Given the description of an element on the screen output the (x, y) to click on. 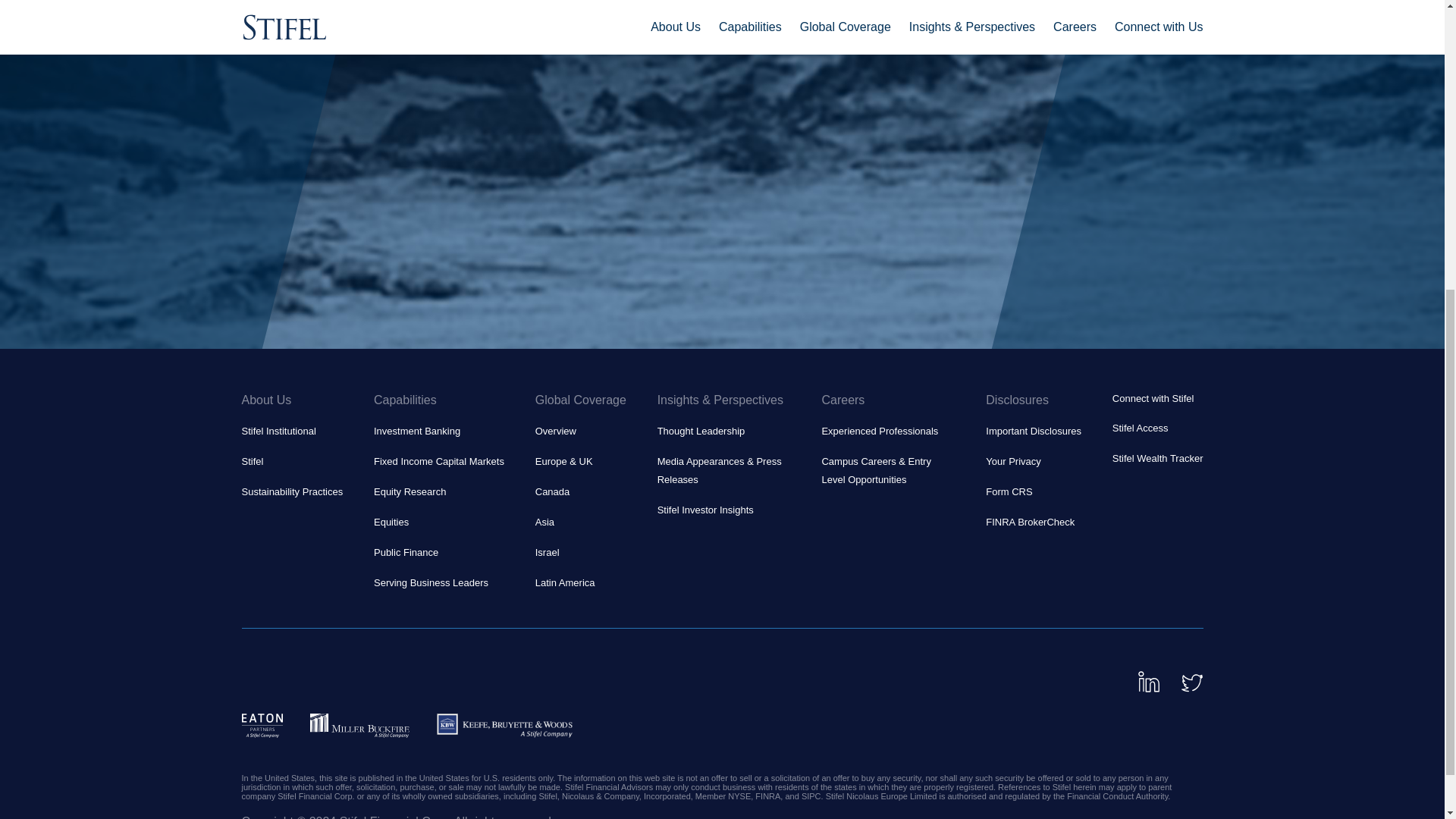
GO HOME (292, 7)
Stifel (252, 460)
Capabilities (438, 400)
Sustainability Practices (291, 491)
Fixed Income Capital Markets (438, 460)
Stifel Institutional (278, 430)
Equities (391, 521)
About Us (291, 400)
Investment Banking (417, 430)
Equity Research (409, 491)
